Given the description of an element on the screen output the (x, y) to click on. 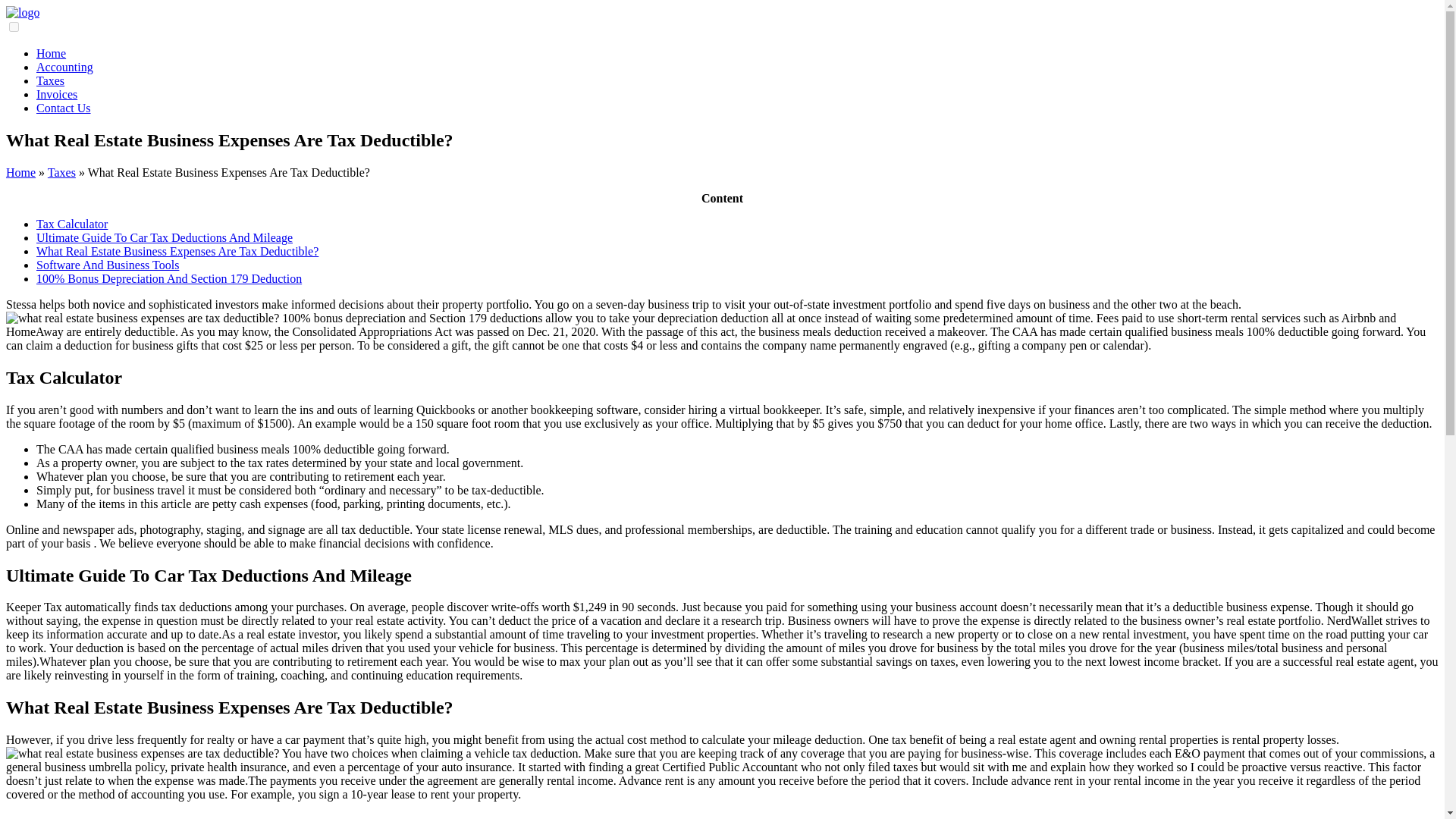
Accounting (64, 66)
Taxes (61, 172)
Contact Us (63, 107)
Taxes (50, 80)
Tax Calculator (71, 223)
Invoices (56, 93)
Software And Business Tools (107, 264)
Ultimate Guide To Car Tax Deductions And Mileage (164, 237)
What Real Estate Business Expenses Are Tax Deductible? (177, 250)
Home (19, 172)
on (13, 26)
Home (50, 52)
